Given the description of an element on the screen output the (x, y) to click on. 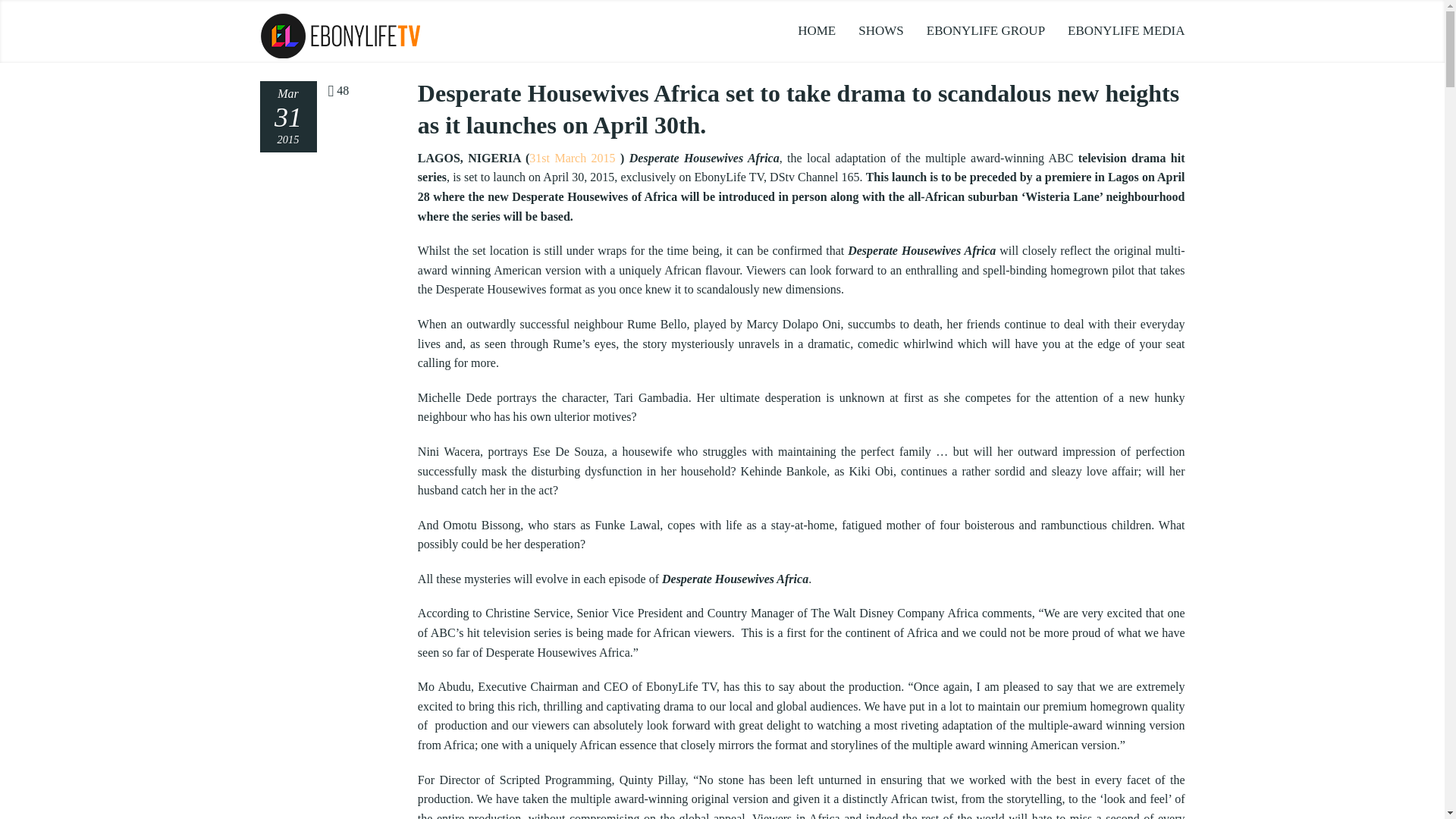
EBONYLIFE GROUP (986, 30)
EBONYLIFE MEDIA (1121, 30)
HOME (816, 30)
48 (338, 90)
SHOWS (881, 30)
